Given the description of an element on the screen output the (x, y) to click on. 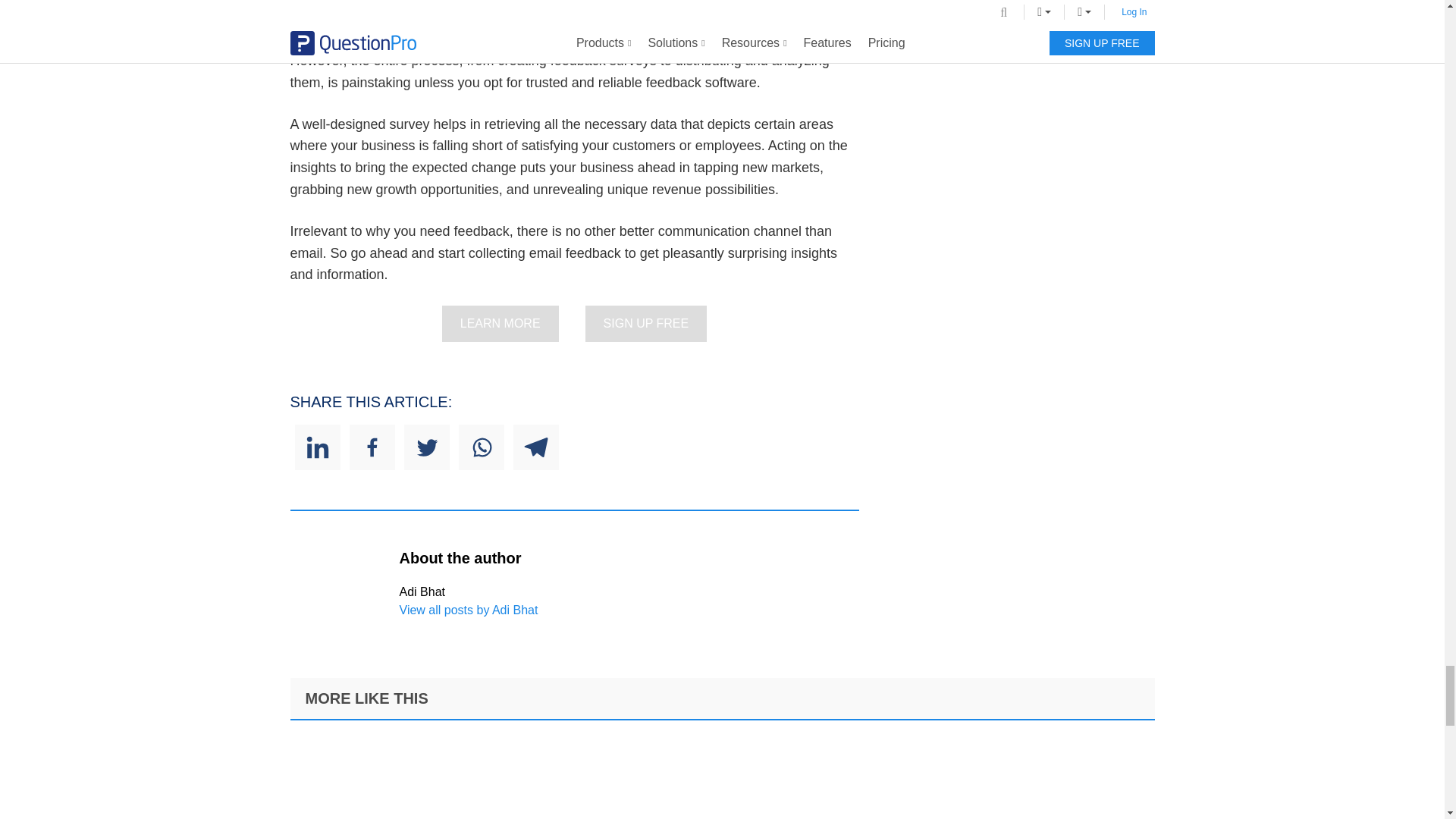
Facebook (371, 447)
Whatsapp (480, 447)
Twitter (425, 447)
Telegram (534, 447)
Linkedin (316, 447)
